Given the description of an element on the screen output the (x, y) to click on. 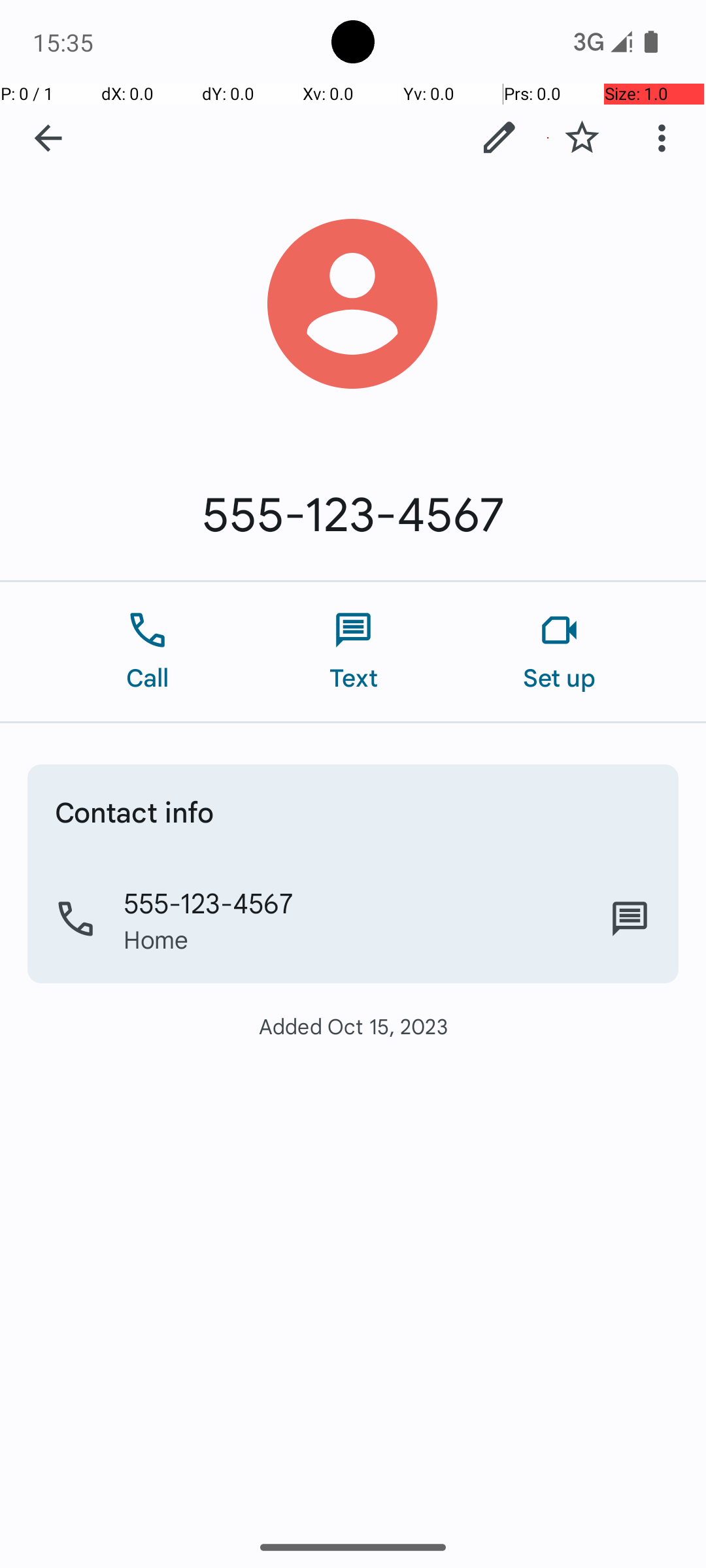
Edit contact Element type: android.widget.Button (498, 137)
Add to favorites Element type: android.widget.Button (581, 137)
Contact photo Element type: android.widget.ImageView (352, 303)
Call Element type: android.widget.TextView (147, 651)
Text Element type: android.widget.TextView (353, 651)
Set up Element type: android.widget.TextView (559, 651)
555-123-4567 Element type: android.widget.TextView (352, 514)
Contact info Element type: android.widget.TextView (134, 811)
Call Home 555-123-4567 Element type: android.widget.RelativeLayout (352, 919)
Added Oct 15, 2023 Element type: android.widget.TextView (352, 1025)
Text Home 555-123-4567 Element type: android.widget.Button (629, 919)
15:35 Element type: android.widget.TextView (64, 41)
